Given the description of an element on the screen output the (x, y) to click on. 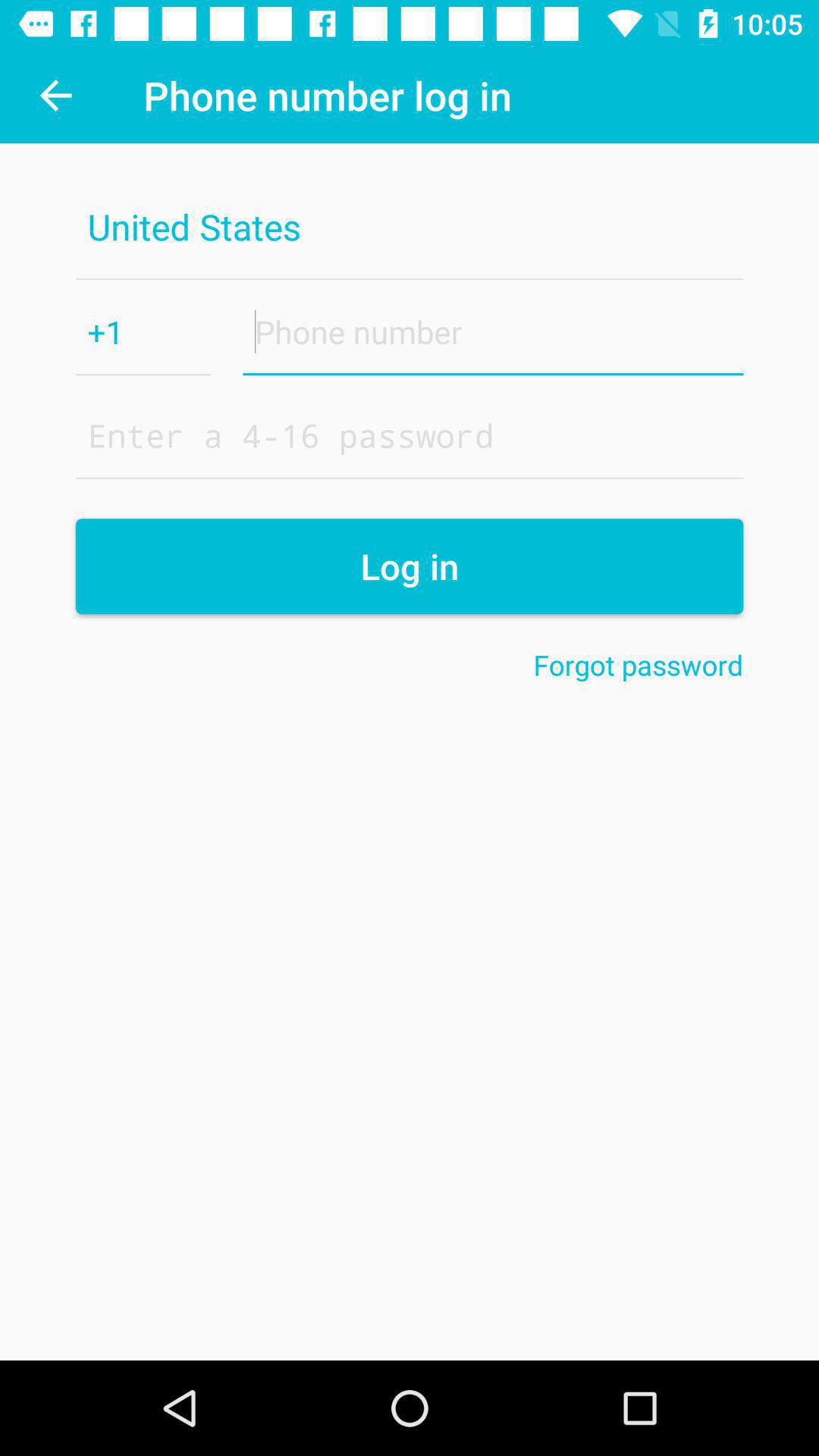
launch item above the log in (409, 434)
